Given the description of an element on the screen output the (x, y) to click on. 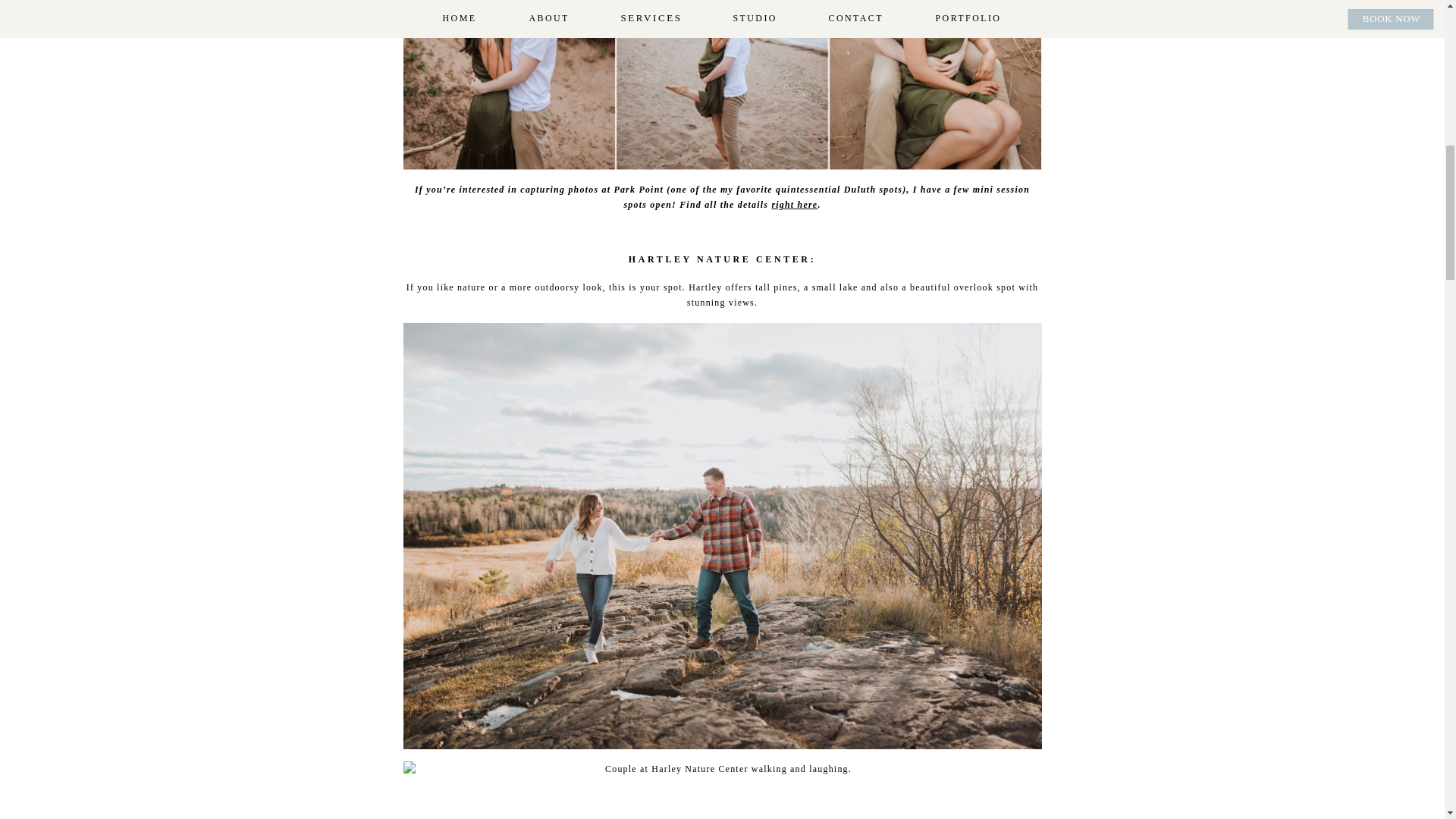
right here (793, 204)
